Given the description of an element on the screen output the (x, y) to click on. 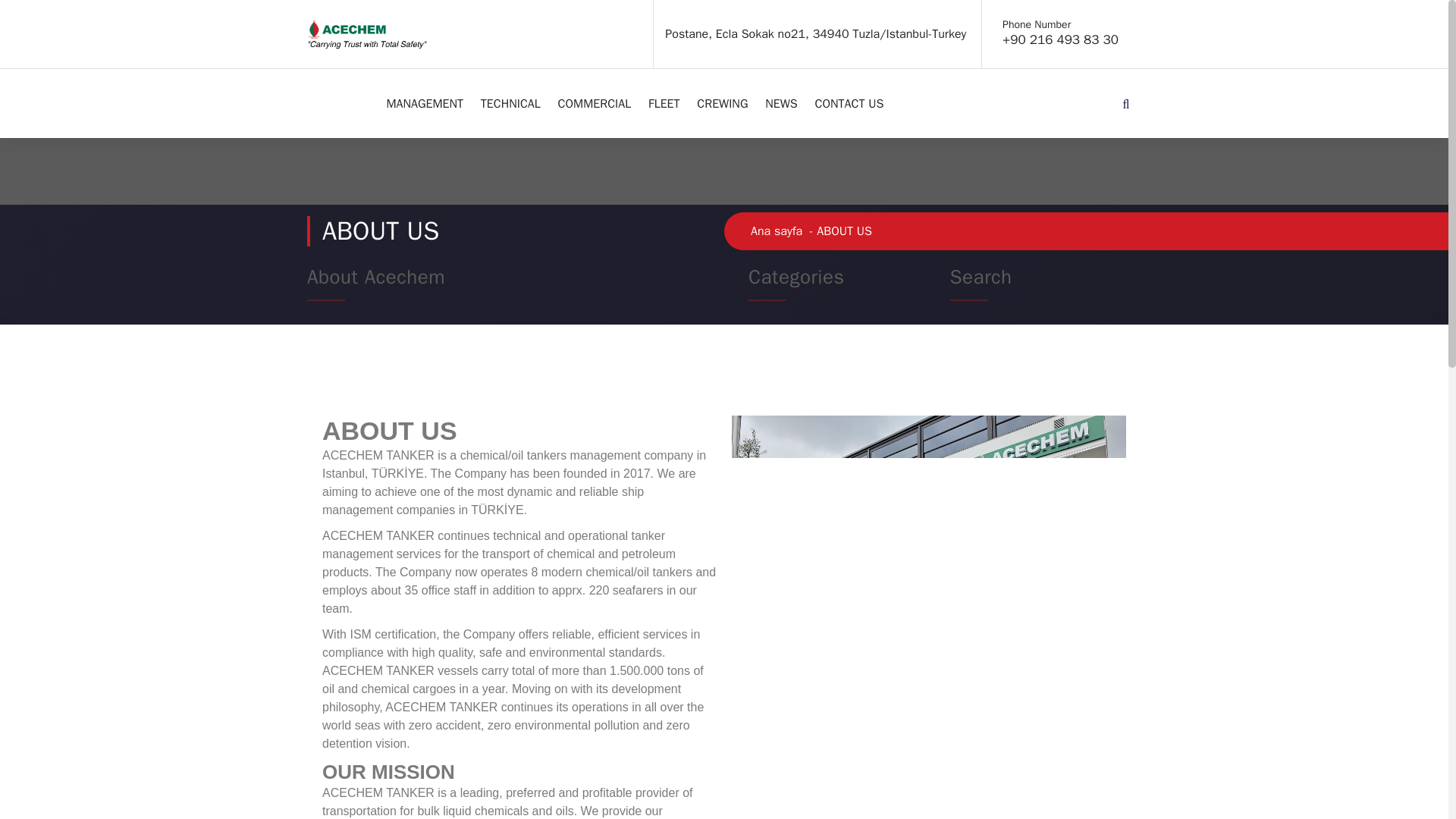
FLEET (663, 103)
CREWING (722, 103)
COMMERCIAL (594, 103)
FLEET (663, 103)
Genel (773, 343)
TECHNICAL (510, 103)
ABOUT US (341, 103)
CONTACT US (849, 103)
NEWS (780, 103)
CREWING (722, 103)
